Given the description of an element on the screen output the (x, y) to click on. 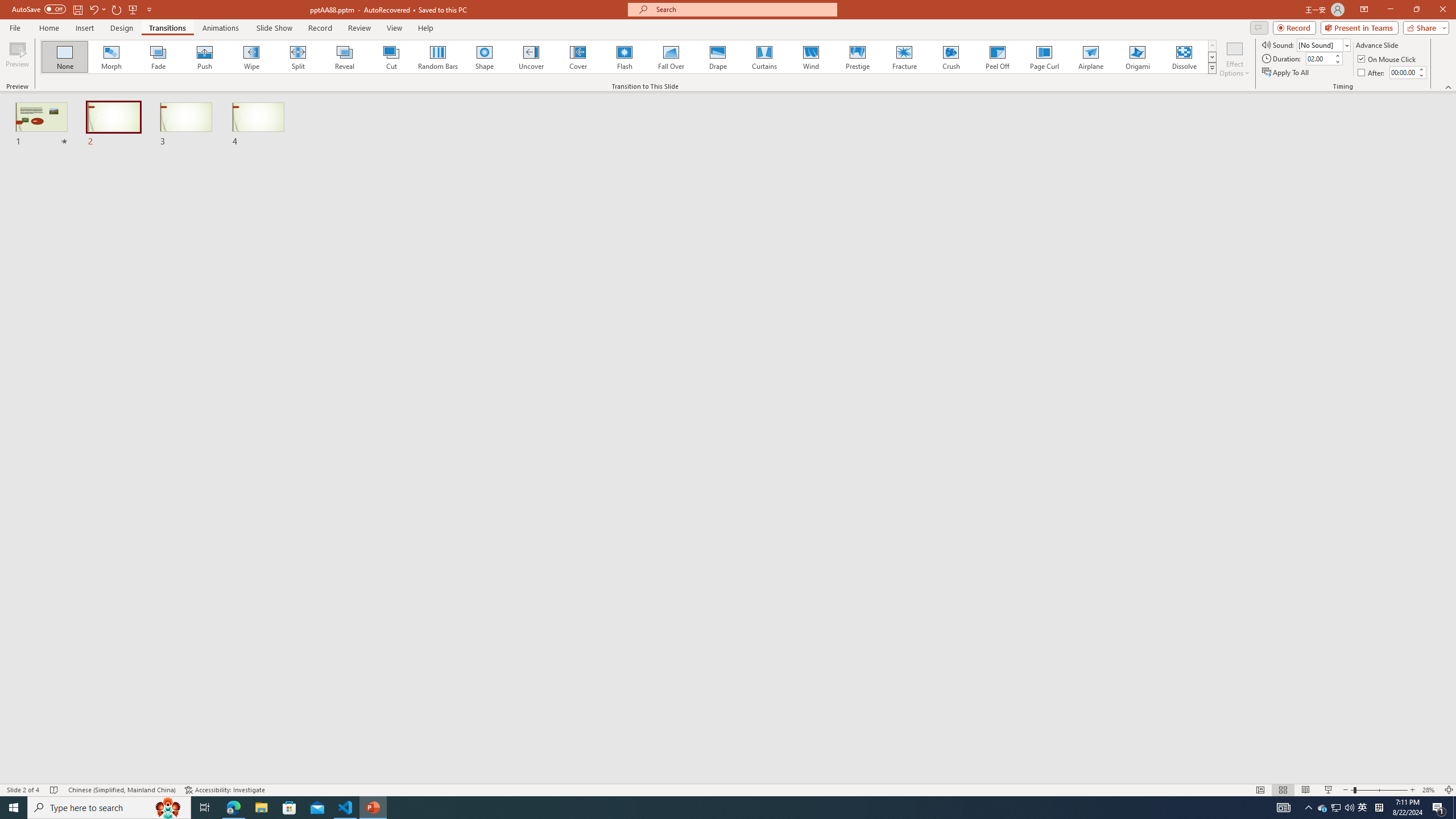
None (65, 56)
Wind (810, 56)
Fall Over (670, 56)
Page Curl (1043, 56)
